Given the description of an element on the screen output the (x, y) to click on. 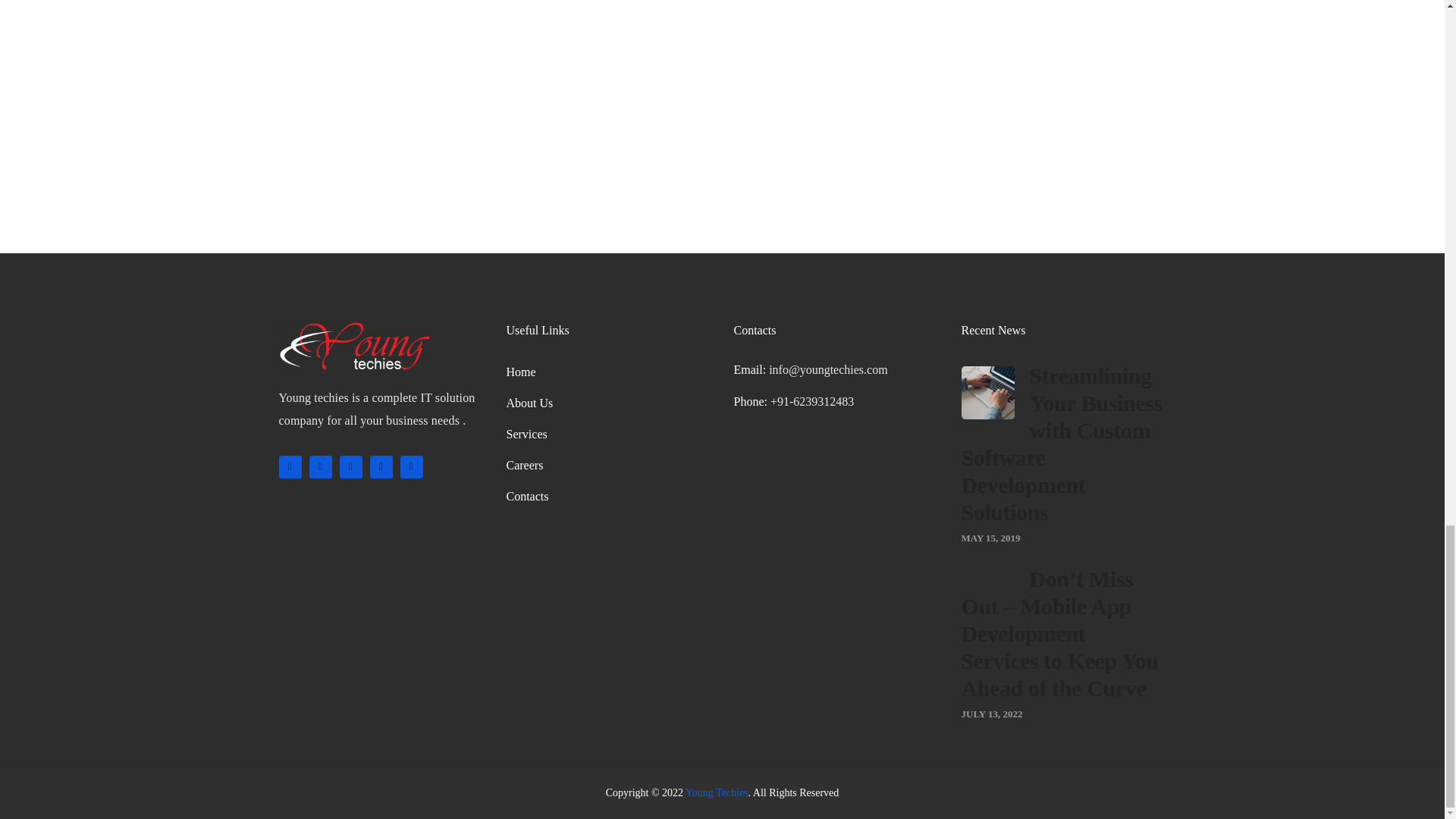
WhatsApp (411, 466)
Facebook (319, 466)
Twitter (290, 466)
LinkedIn (350, 466)
Instagram (381, 466)
